Given the description of an element on the screen output the (x, y) to click on. 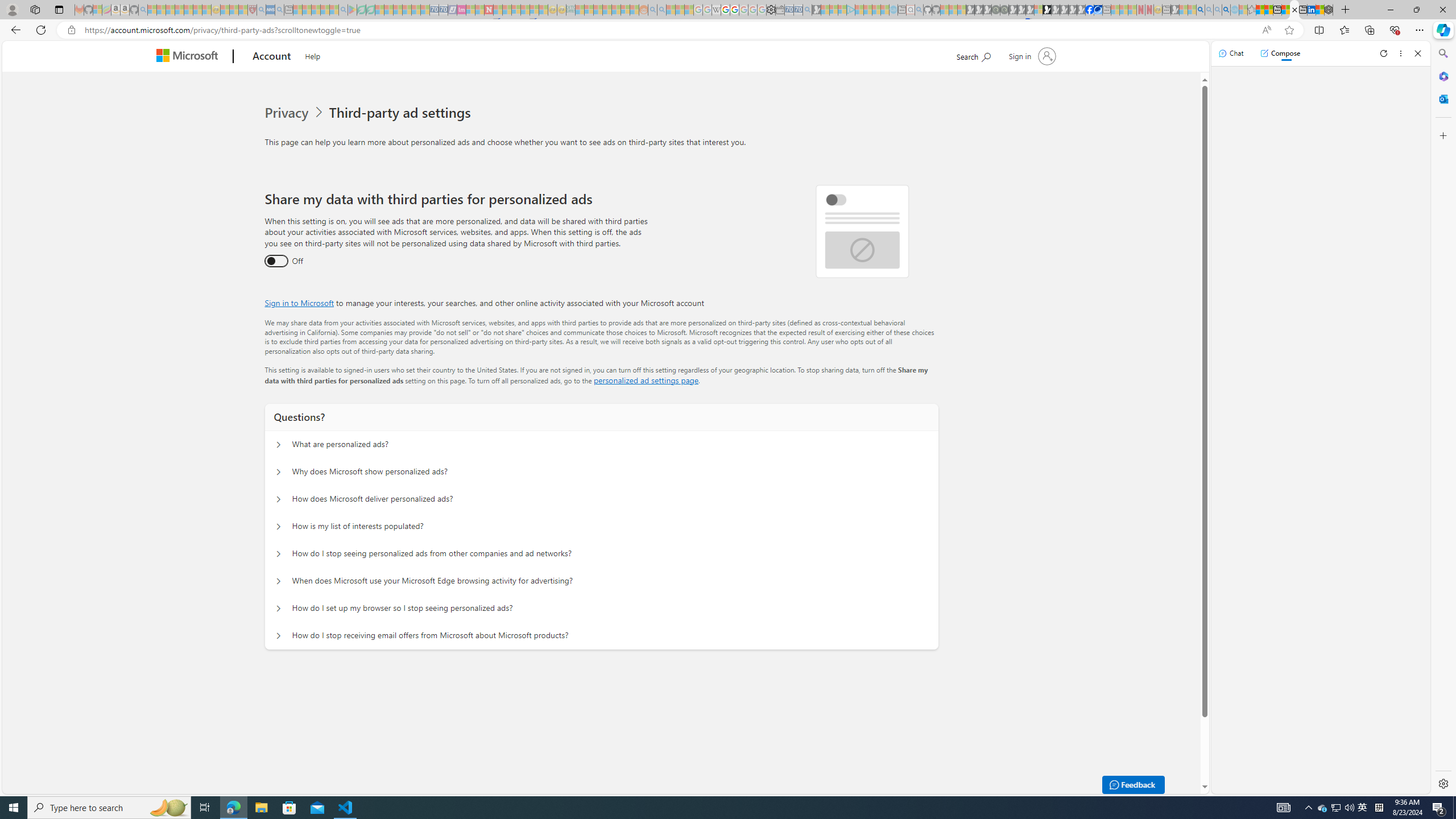
Target page - Wikipedia - Sleeping (716, 9)
Questions? What are personalized ads? (278, 444)
